Given the description of an element on the screen output the (x, y) to click on. 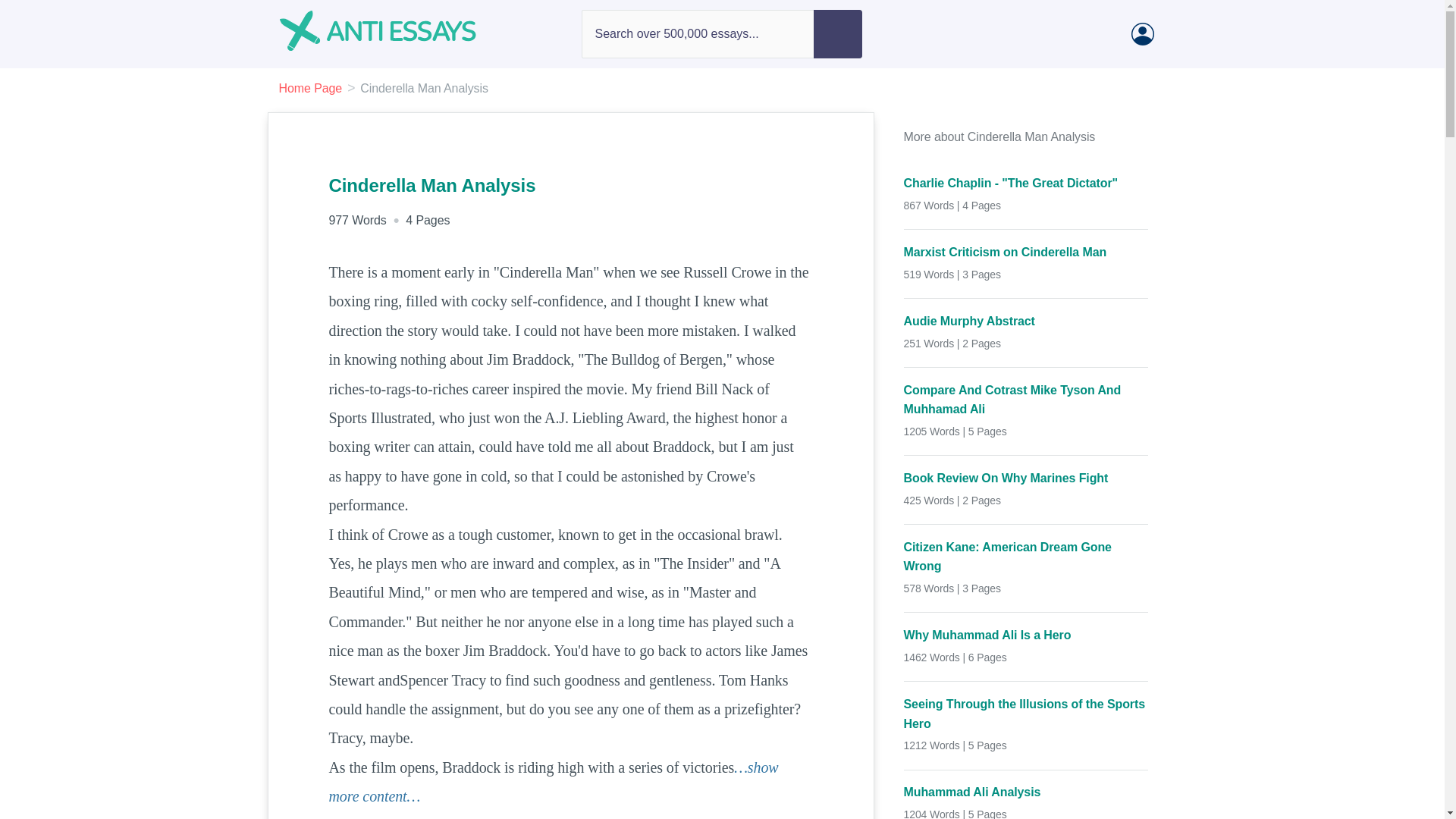
Seeing Through the Illusions of the Sports Hero (1026, 713)
Home Page (310, 88)
Muhammad Ali Analysis (1026, 792)
Citizen Kane: American Dream Gone Wrong (1026, 556)
Audie Murphy Abstract (1026, 321)
Why Muhammad Ali Is a Hero (1026, 635)
Book Review On Why Marines Fight (1026, 478)
Charlie Chaplin - "The Great Dictator" (1026, 183)
Compare And Cotrast Mike Tyson And Muhhamad Ali (1026, 399)
Marxist Criticism on Cinderella Man (1026, 252)
